Given the description of an element on the screen output the (x, y) to click on. 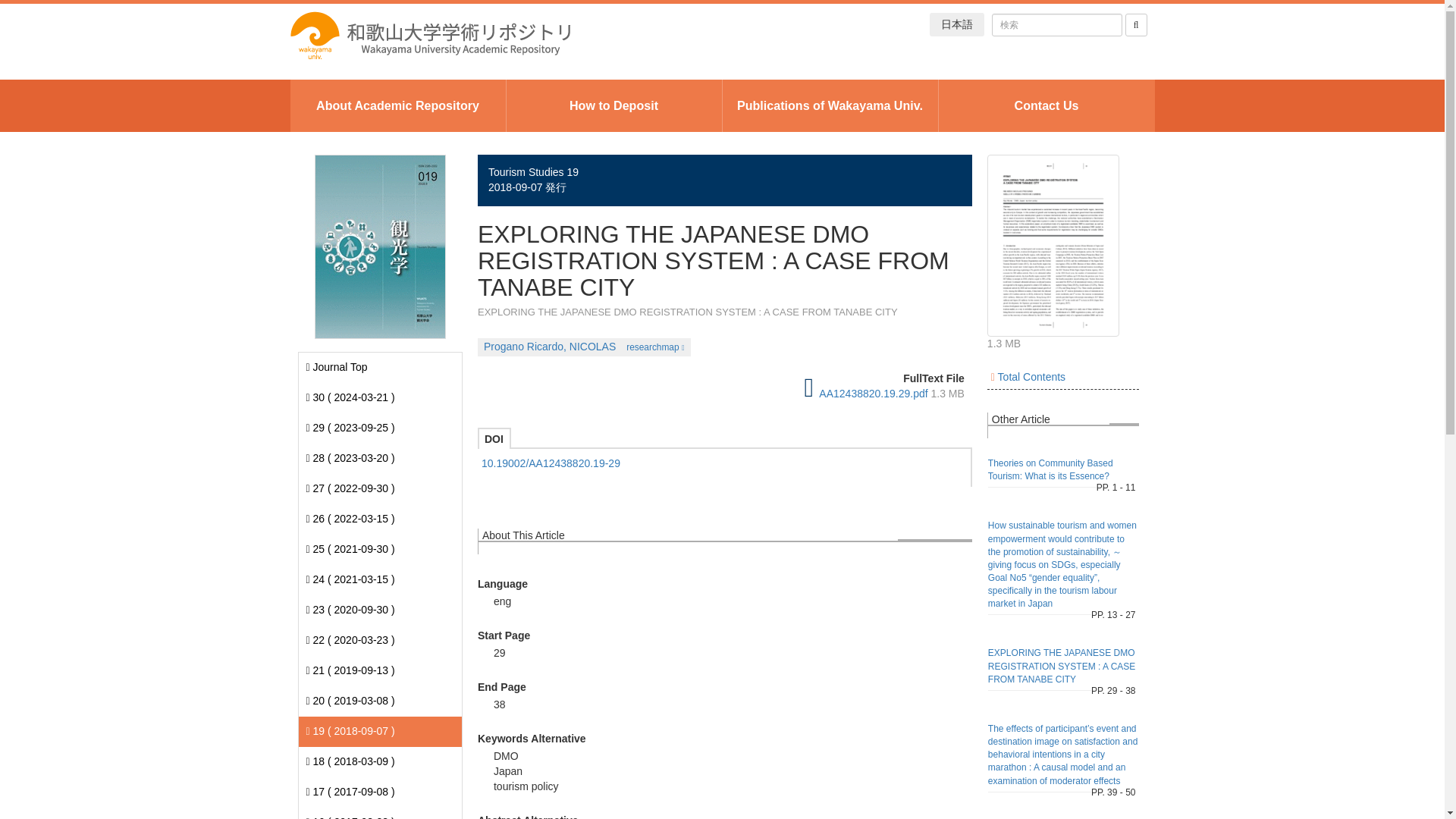
Contact Us (1046, 105)
About Academic Repository (397, 105)
Journal Top (336, 367)
Publications of Wakayama Univ. (829, 105)
Wakayama University Academic Repository (429, 34)
How to Deposit (614, 105)
